Given the description of an element on the screen output the (x, y) to click on. 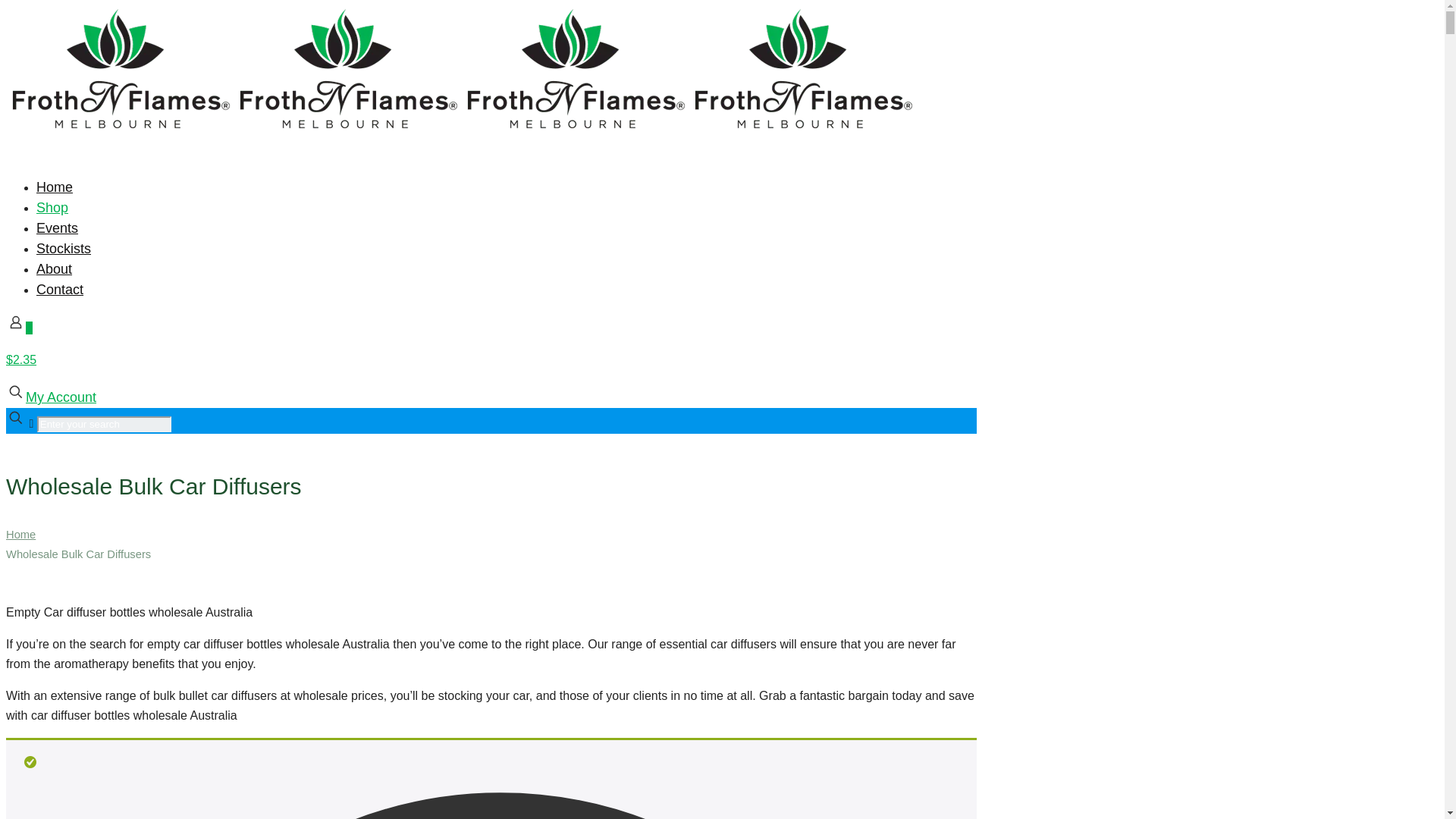
Stockists Element type: text (63, 248)
Contact Element type: text (59, 289)
Home Element type: text (20, 534)
About Element type: text (54, 268)
Events Element type: text (57, 227)
Shop Element type: text (52, 207)
1
$2.35 Element type: text (491, 362)
FrothnFlames Element type: hover (461, 130)
My Account Element type: text (60, 396)
Home Element type: text (54, 186)
